Given the description of an element on the screen output the (x, y) to click on. 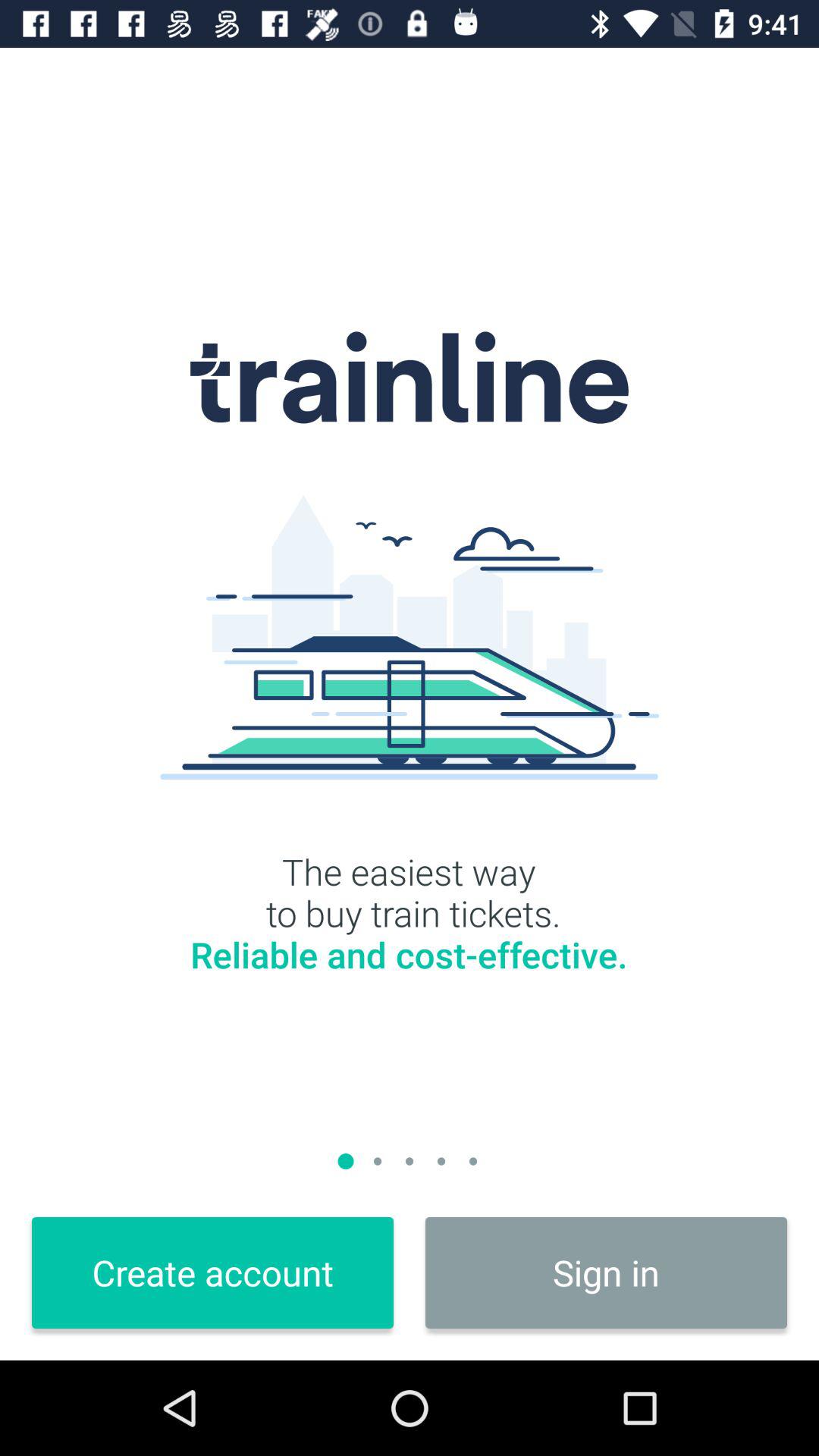
press icon at the bottom left corner (212, 1272)
